Given the description of an element on the screen output the (x, y) to click on. 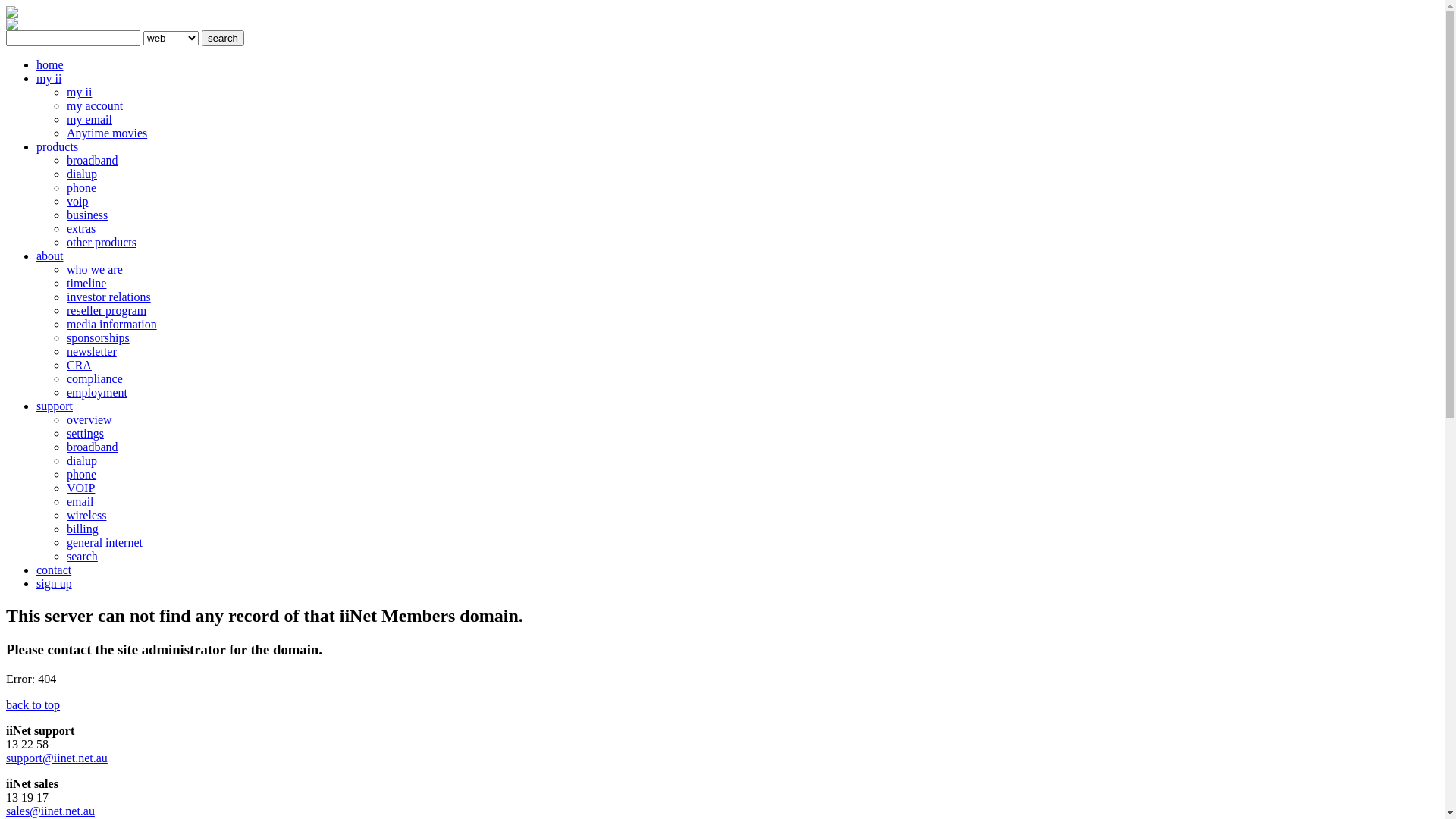
extras Element type: text (80, 228)
business Element type: text (86, 214)
search Element type: text (81, 555)
general internet Element type: text (104, 542)
back to top Element type: text (32, 704)
VOIP Element type: text (80, 487)
broadband Element type: text (92, 159)
my ii Element type: text (78, 91)
my account Element type: text (94, 105)
settings Element type: text (84, 432)
employment Element type: text (96, 391)
investor relations Element type: text (108, 296)
sales@iinet.net.au Element type: text (50, 810)
CRA Element type: text (78, 364)
phone Element type: text (81, 473)
timeline Element type: text (86, 282)
sponsorships Element type: text (97, 337)
home Element type: text (49, 64)
phone Element type: text (81, 187)
wireless Element type: text (86, 514)
overview Element type: text (89, 419)
dialup Element type: text (81, 173)
products Element type: text (57, 146)
email Element type: text (80, 501)
contact Element type: text (53, 569)
support@iinet.net.au Element type: text (56, 757)
about Element type: text (49, 255)
billing Element type: text (82, 528)
support Element type: text (54, 405)
sign up Element type: text (54, 583)
newsletter Element type: text (91, 351)
broadband Element type: text (92, 446)
media information Element type: text (111, 323)
who we are Element type: text (94, 269)
Anytime movies Element type: text (106, 132)
reseller program Element type: text (106, 310)
my ii Element type: text (48, 78)
my email Element type: text (89, 118)
search Element type: text (222, 38)
voip Element type: text (76, 200)
dialup Element type: text (81, 460)
other products Element type: text (101, 241)
compliance Element type: text (94, 378)
